Given the description of an element on the screen output the (x, y) to click on. 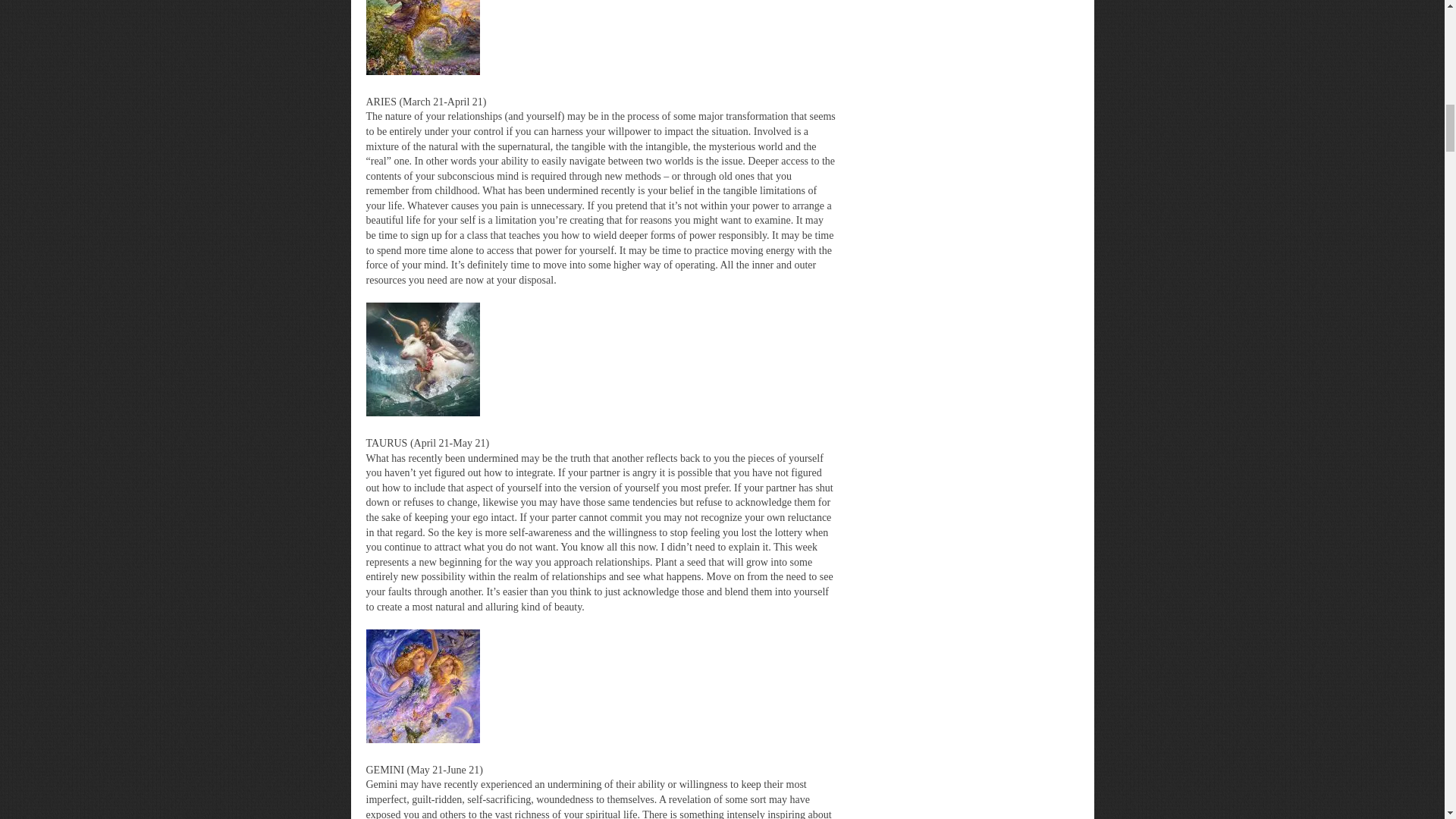
taurus1 (422, 359)
aries (422, 37)
gemini (422, 685)
